Given the description of an element on the screen output the (x, y) to click on. 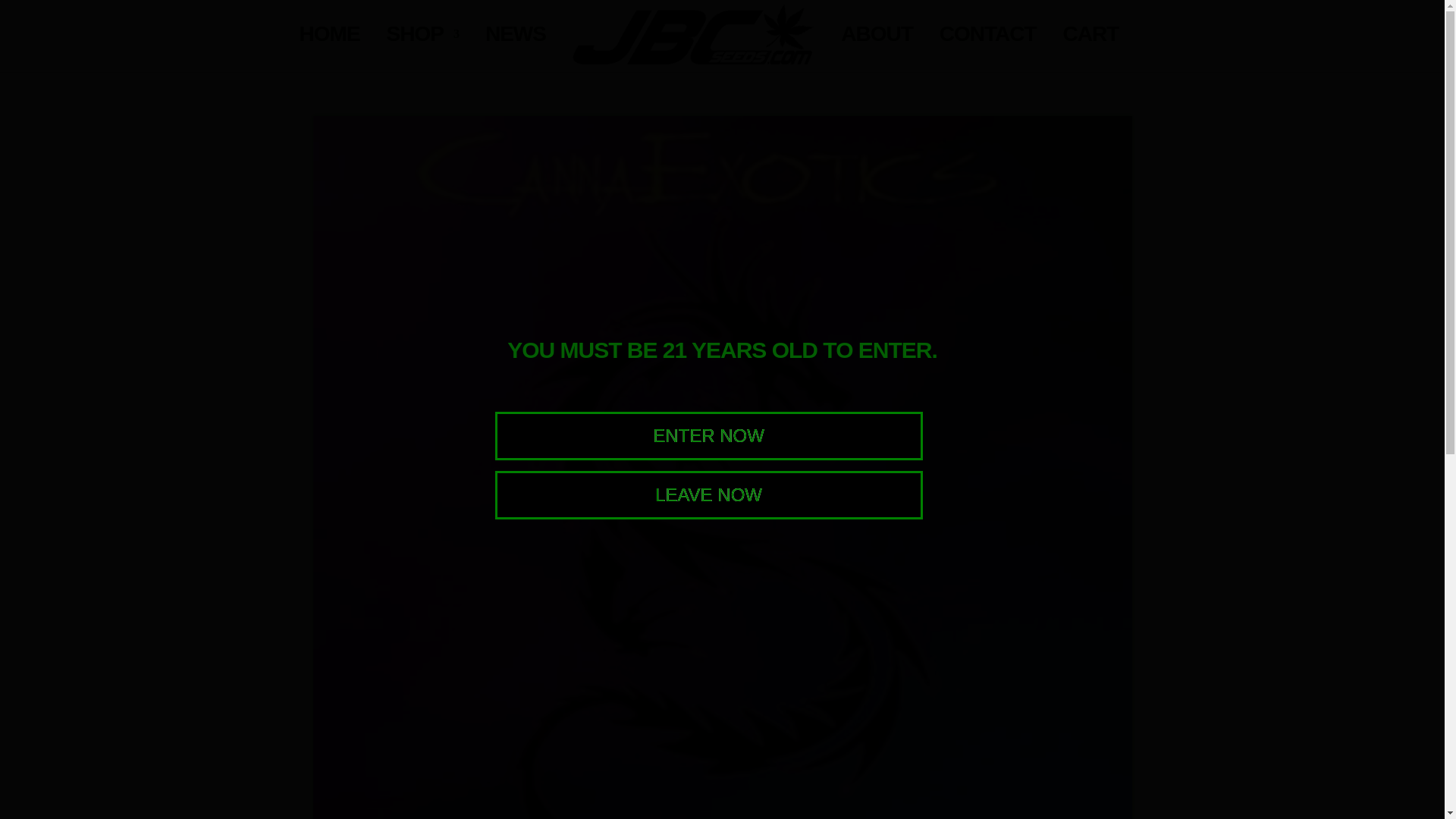
SHOP (422, 50)
LEAVE NOW (708, 494)
ABOUT (876, 50)
LEAVE NOW (708, 494)
NEWS (515, 50)
HOME (329, 50)
ENTER NOW (708, 435)
CART (1090, 50)
ENTER NOW (708, 435)
CONTACT (987, 50)
